Given the description of an element on the screen output the (x, y) to click on. 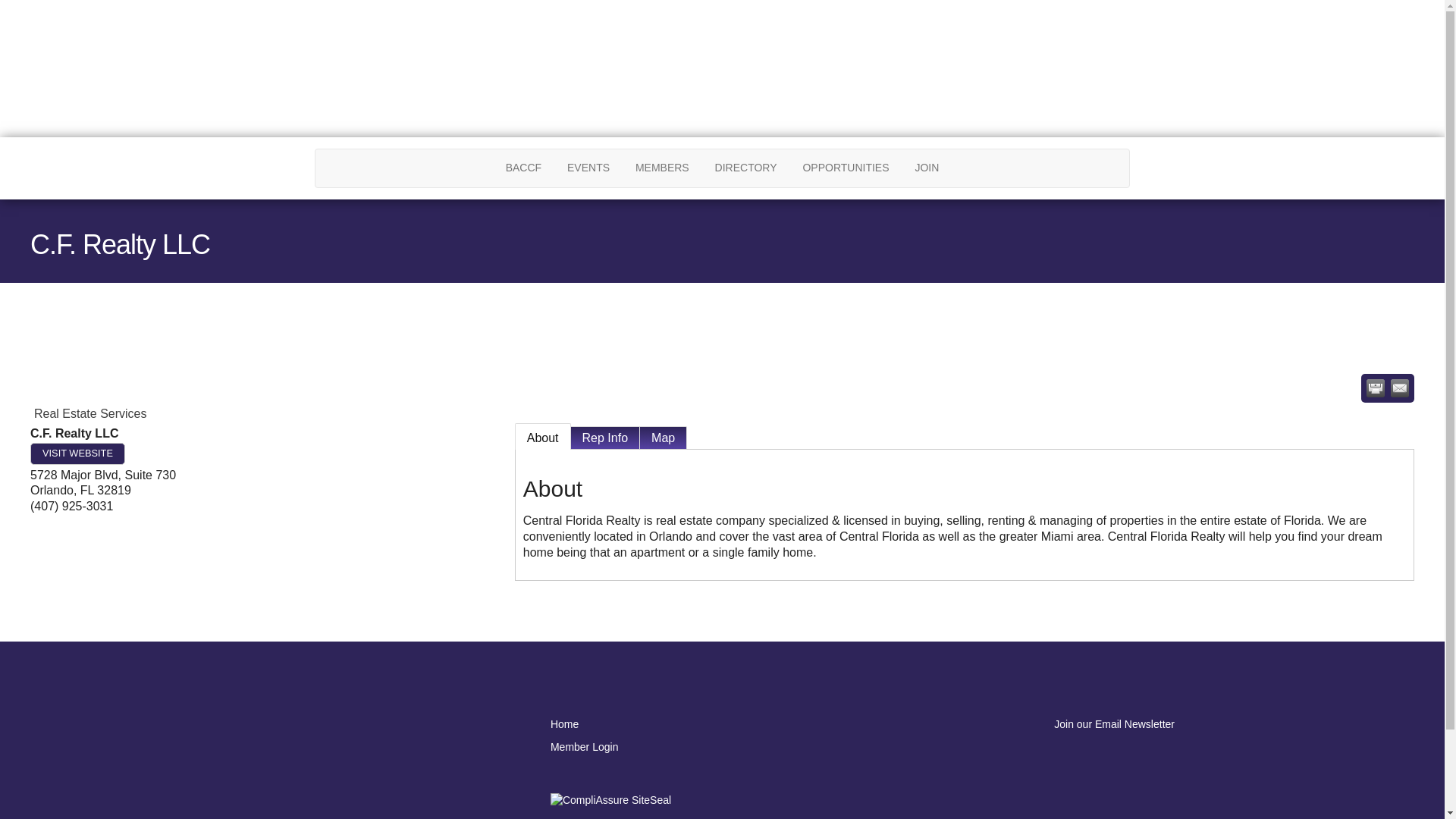
Visit the website of C.F. Realty LLC (77, 454)
EVENTS (588, 168)
Print this page (1375, 388)
OPPORTUNITIES (844, 168)
Share by Email (1399, 388)
JOIN (926, 168)
BACCF (524, 168)
MEMBERS (662, 168)
DIRECTORY (746, 168)
